Given the description of an element on the screen output the (x, y) to click on. 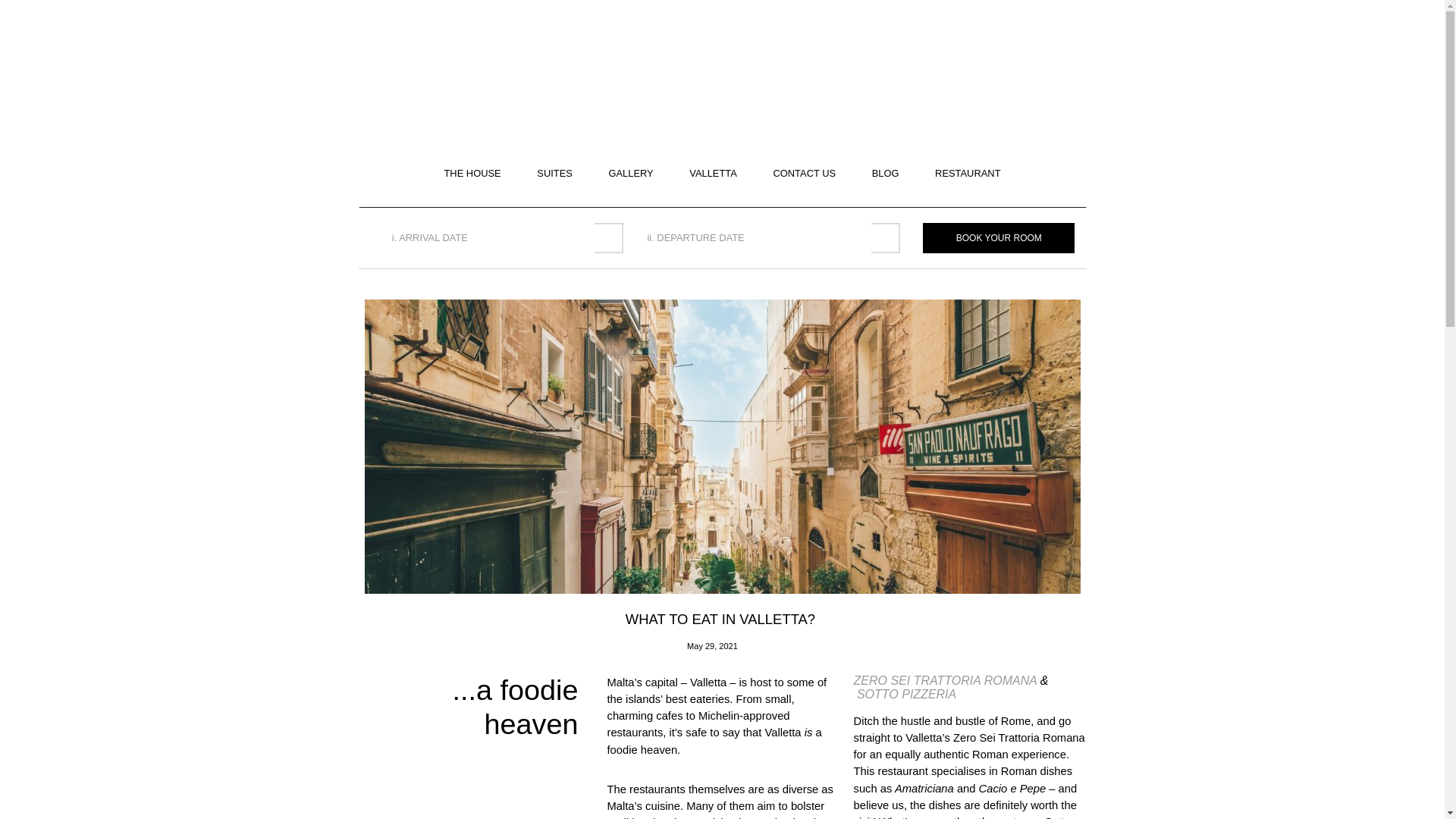
CONTACT US (804, 173)
BLOG (885, 173)
 SOTTO PIZZERIA (904, 694)
VALLETTA (712, 173)
RESTAURANT (967, 173)
GALLERY (630, 173)
ZERO SEI TRATTORIA ROMANA (947, 680)
Book Your Room (998, 237)
THE HOUSE (472, 173)
SUITES (554, 173)
